Given the description of an element on the screen output the (x, y) to click on. 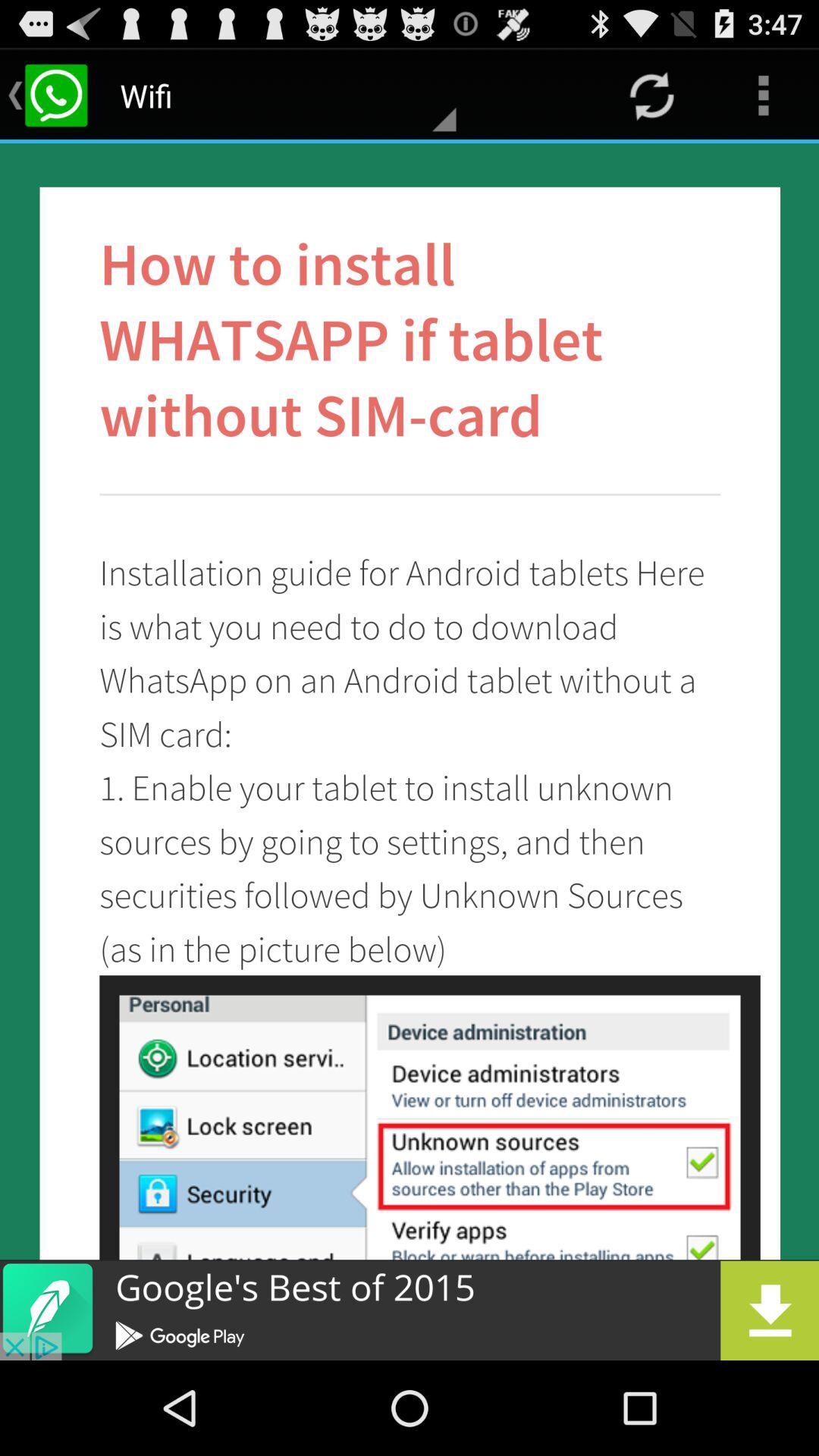
open advertisement page (409, 1310)
